Given the description of an element on the screen output the (x, y) to click on. 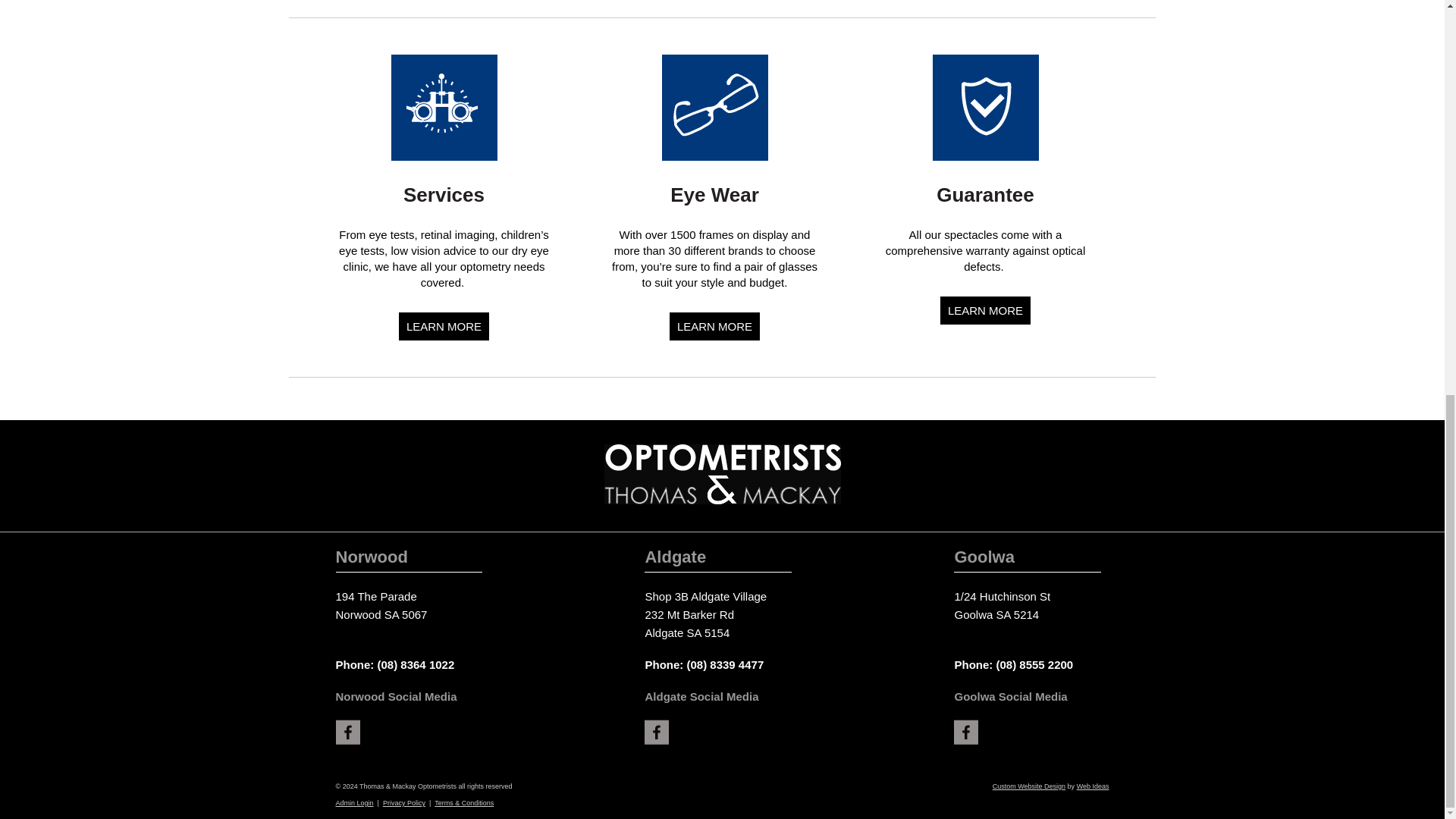
LEARN MORE (443, 326)
LEARN MORE (714, 326)
